Given the description of an element on the screen output the (x, y) to click on. 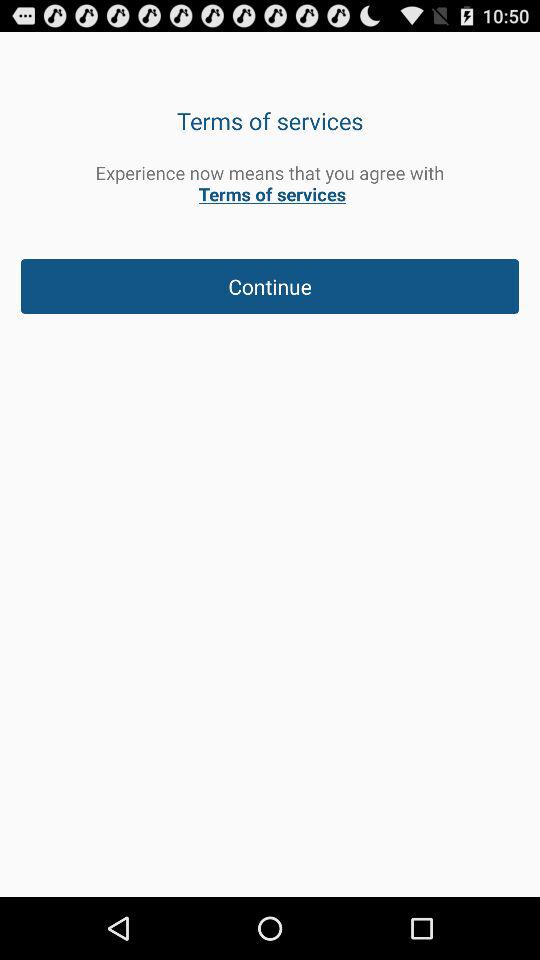
select the item above continue item (270, 183)
